Given the description of an element on the screen output the (x, y) to click on. 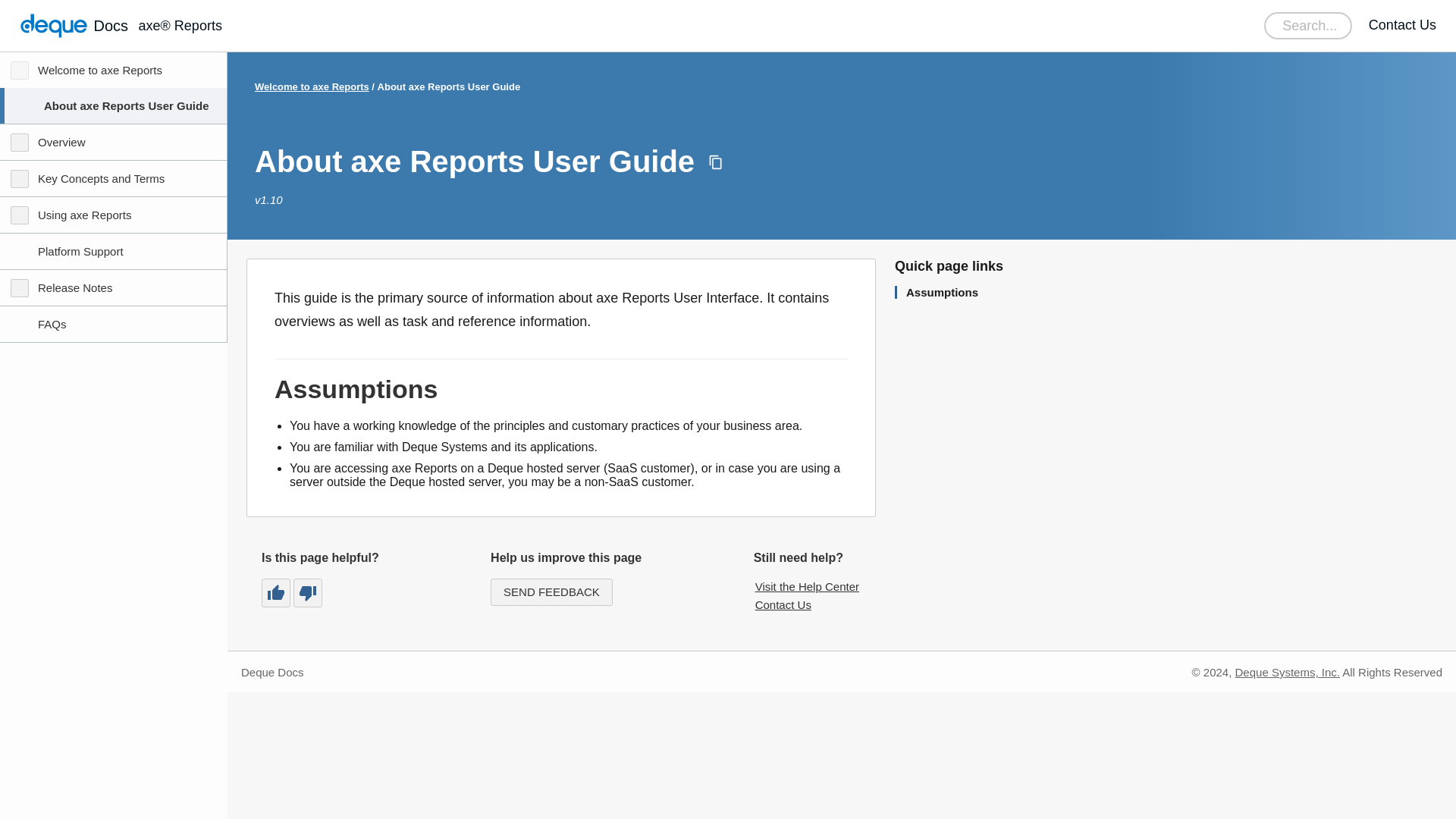
Search... (1307, 25)
Docs (73, 25)
Contact Us (1401, 25)
